Given the description of an element on the screen output the (x, y) to click on. 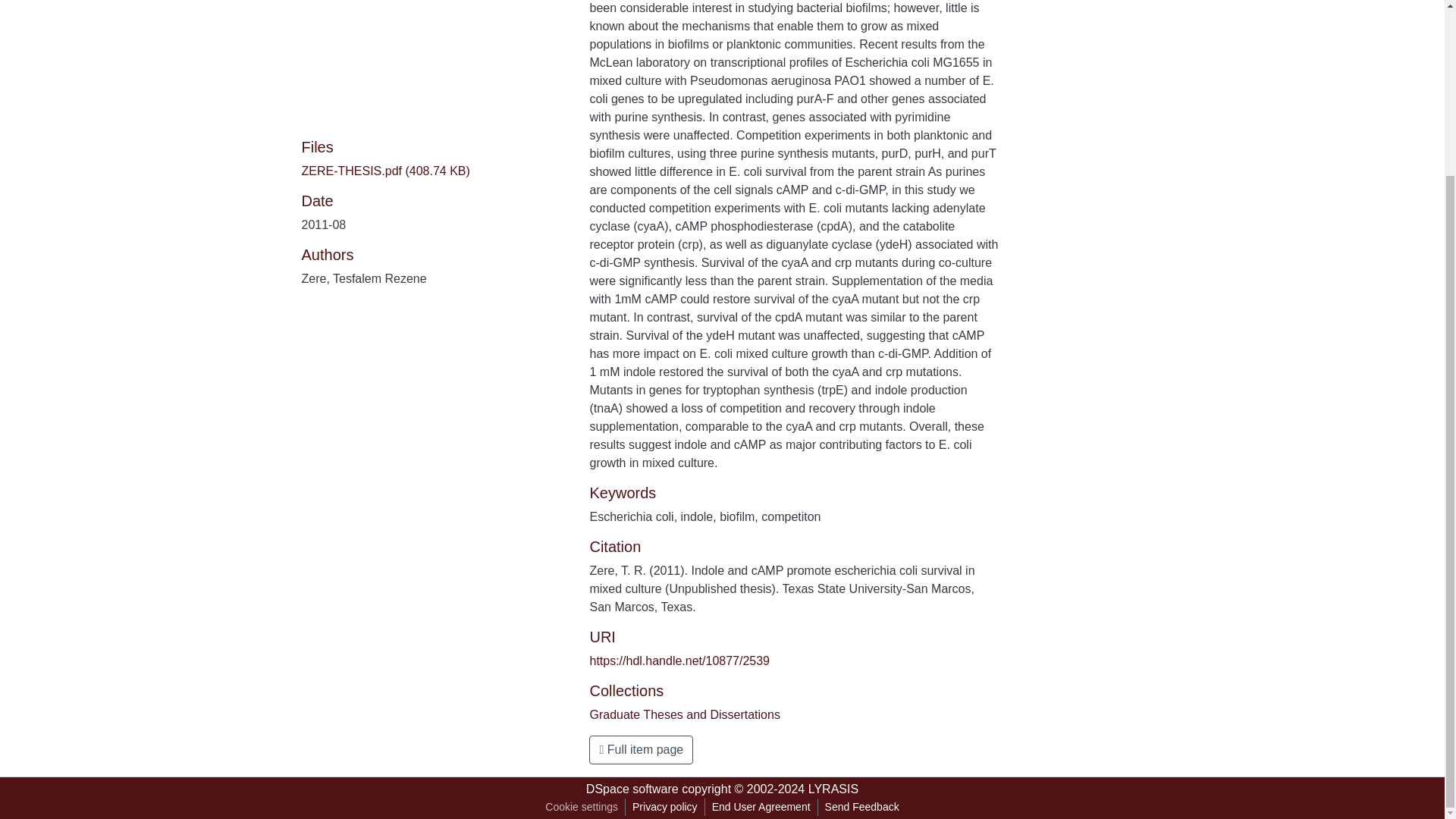
LYRASIS (833, 788)
Privacy policy (665, 806)
Full item page (641, 749)
DSpace software (632, 788)
End User Agreement (760, 806)
Cookie settings (581, 806)
Send Feedback (861, 806)
Graduate Theses and Dissertations (683, 714)
